Given the description of an element on the screen output the (x, y) to click on. 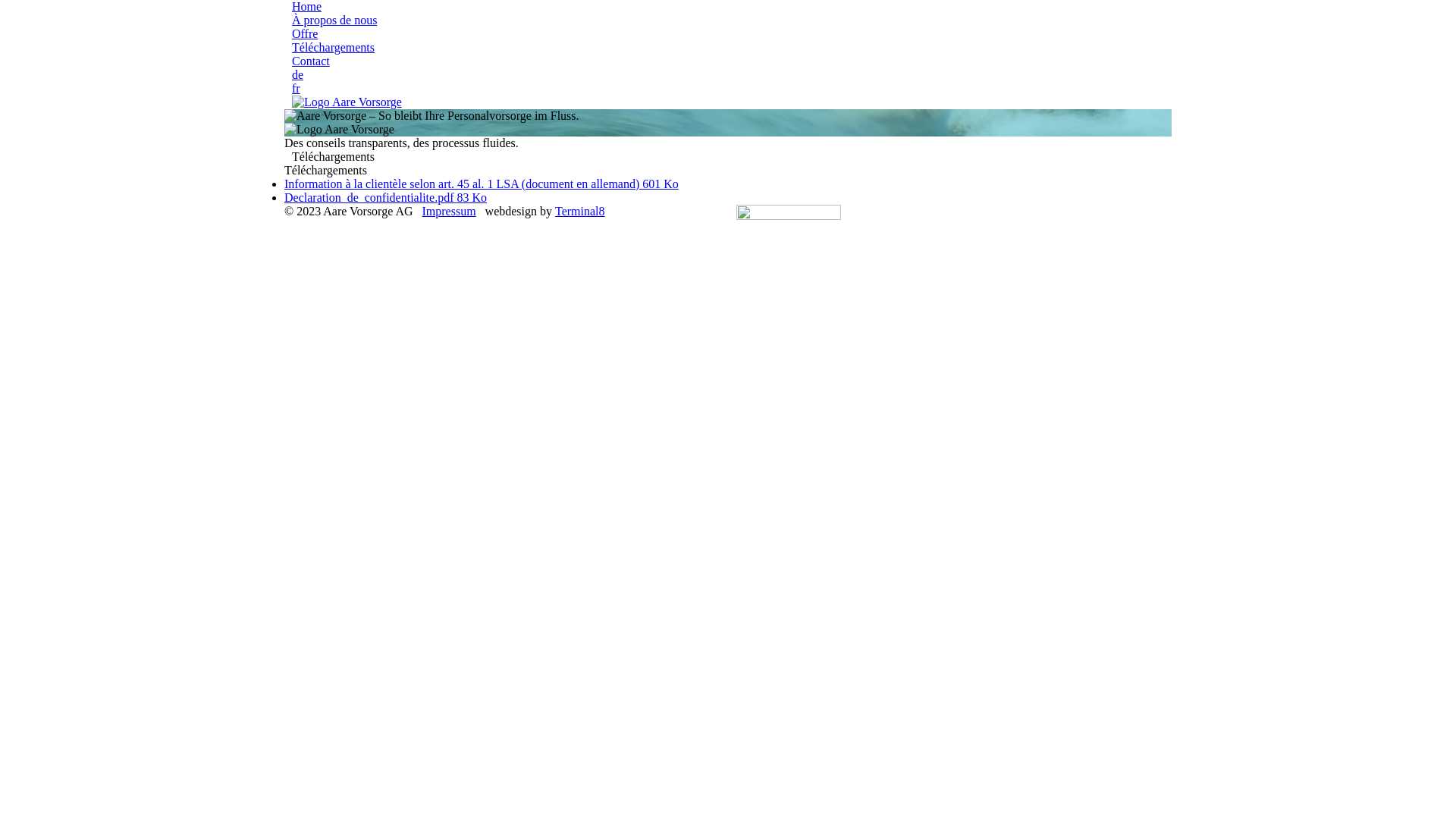
Terminal8 Element type: text (580, 210)
de Element type: text (297, 74)
83 Ko Element type: text (471, 197)
Contact Element type: text (310, 60)
Declaration_de_confidentialite.pdf Element type: text (370, 197)
601 Ko Element type: text (660, 183)
Impressum Element type: text (448, 210)
fr Element type: text (295, 87)
Home Element type: text (306, 6)
Home Element type: hover (346, 101)
Logo Aare Vorsorge Element type: hover (339, 129)
Offre Element type: text (304, 33)
